Given the description of an element on the screen output the (x, y) to click on. 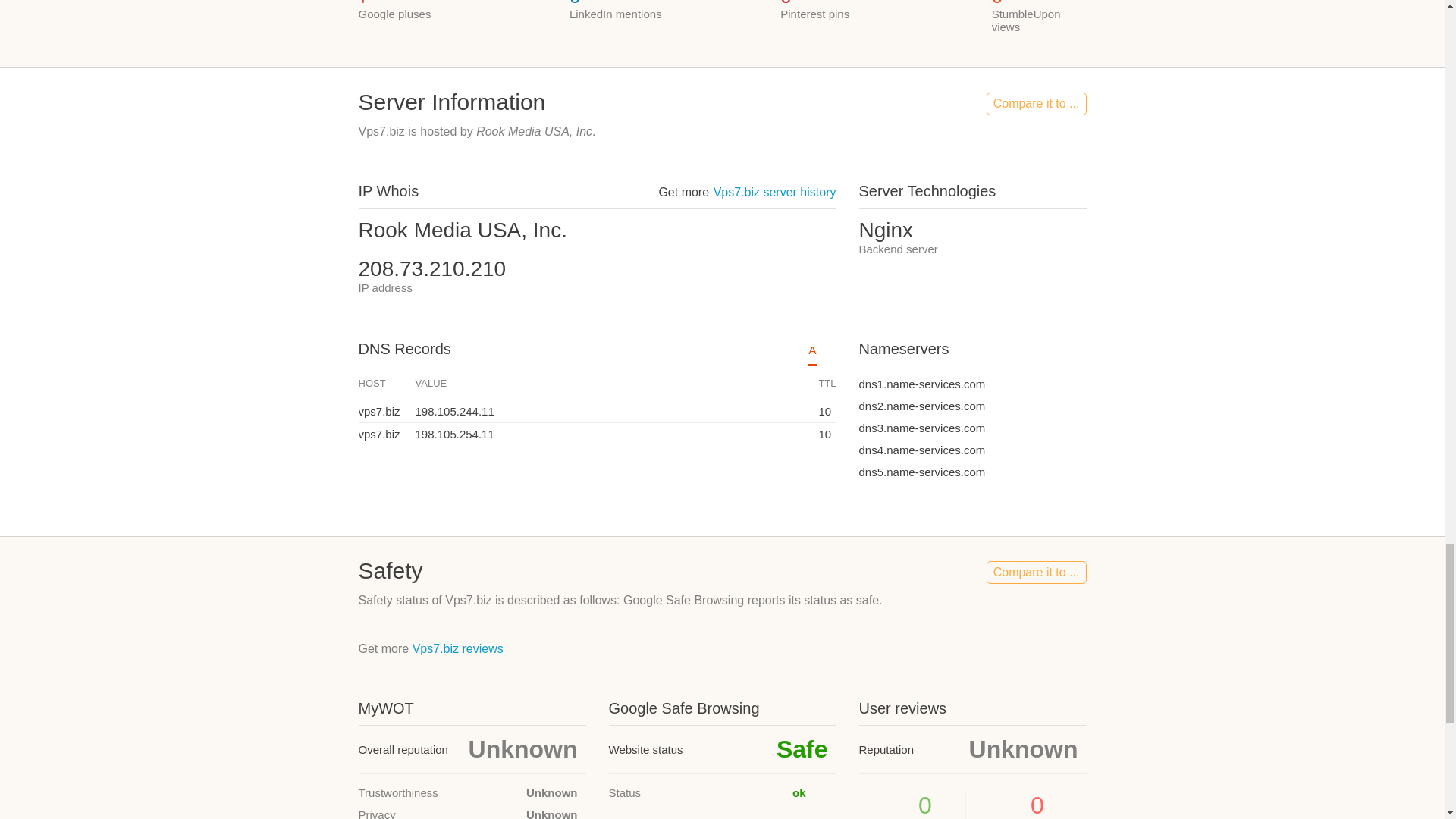
A (811, 354)
Compare it to ... (1036, 103)
Compare it to ... (1036, 572)
Vps7.biz server history (774, 192)
